Given the description of an element on the screen output the (x, y) to click on. 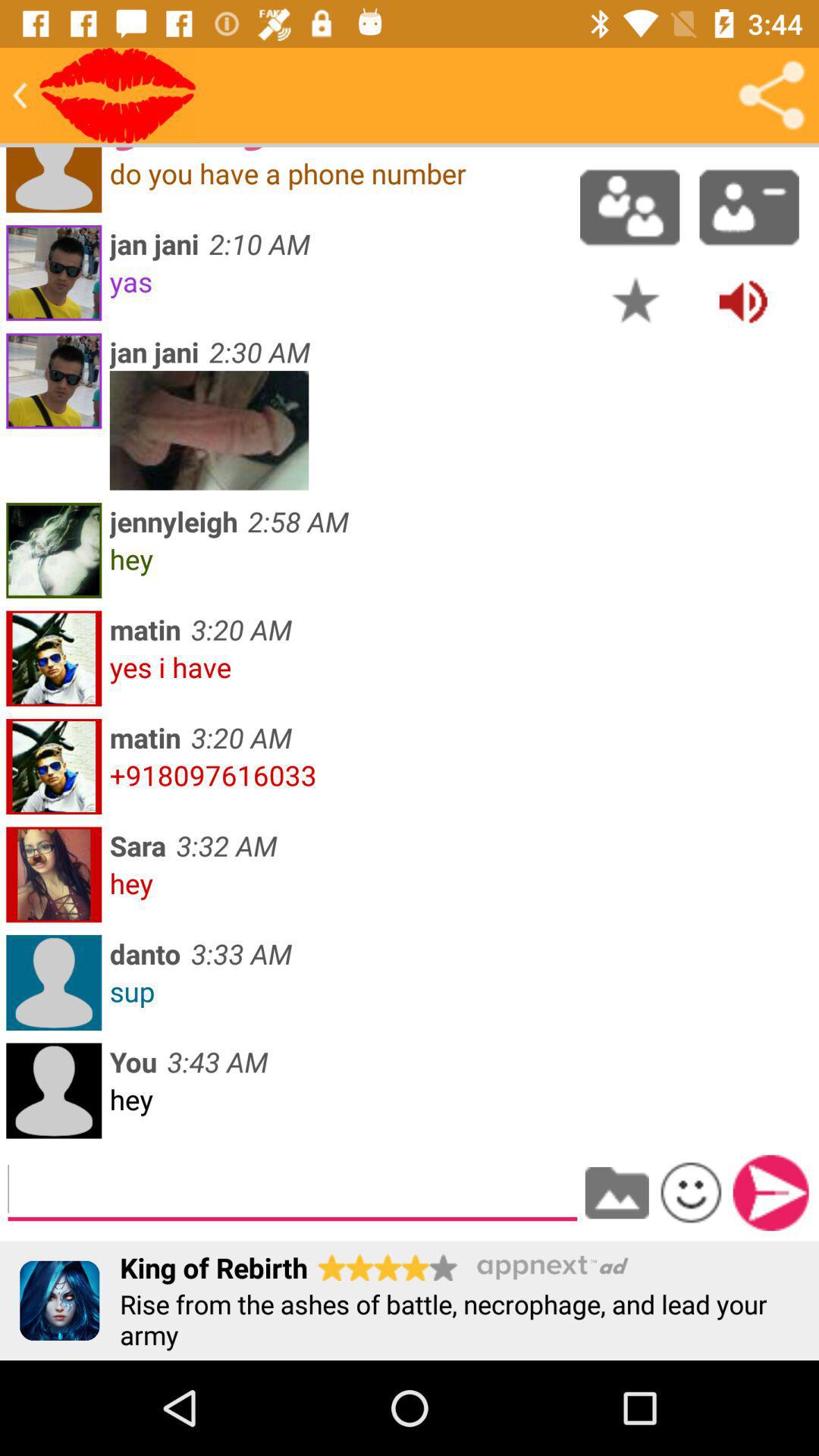
add emoji (690, 1192)
